Given the description of an element on the screen output the (x, y) to click on. 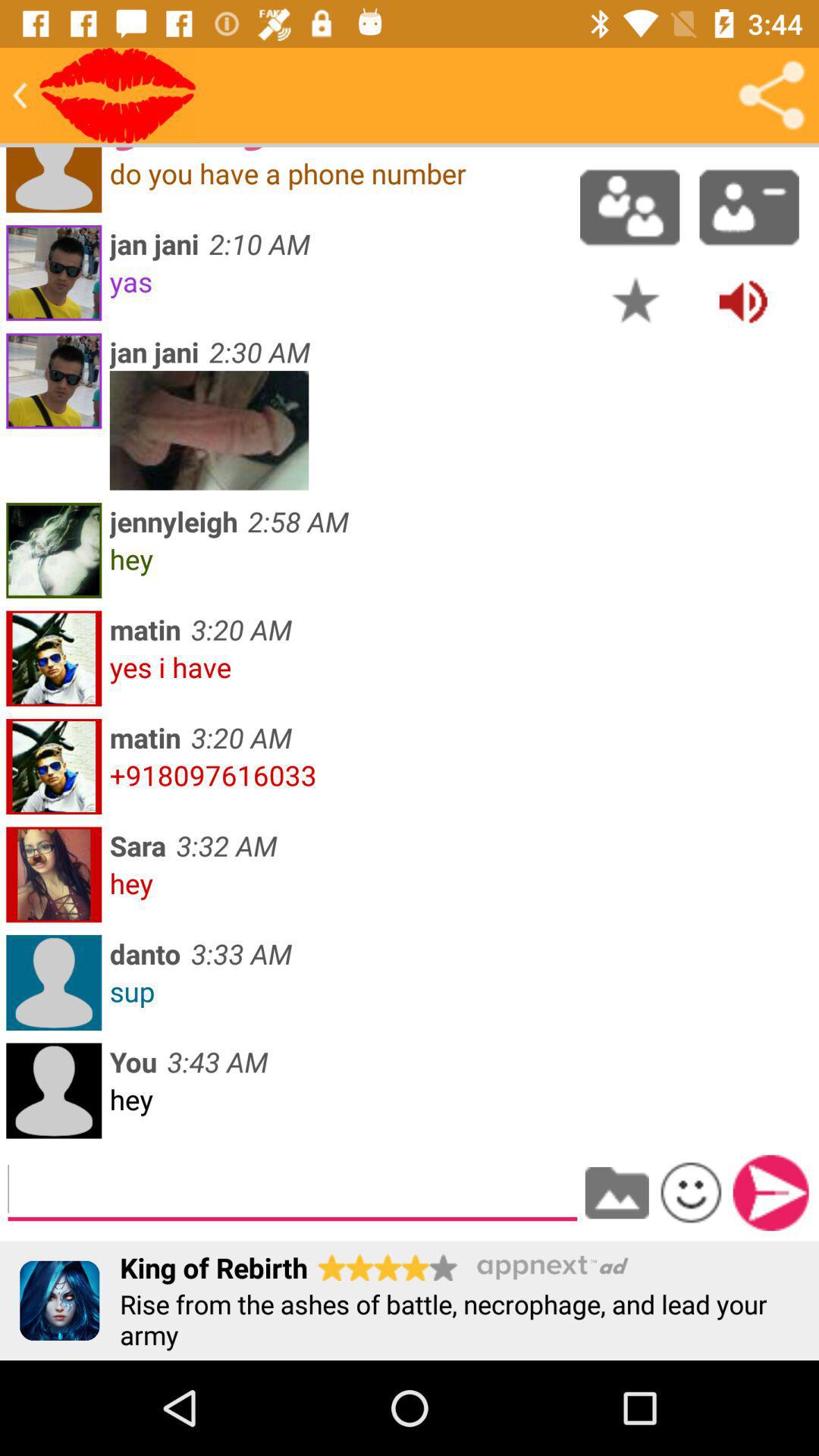
add emoji (690, 1192)
